Given the description of an element on the screen output the (x, y) to click on. 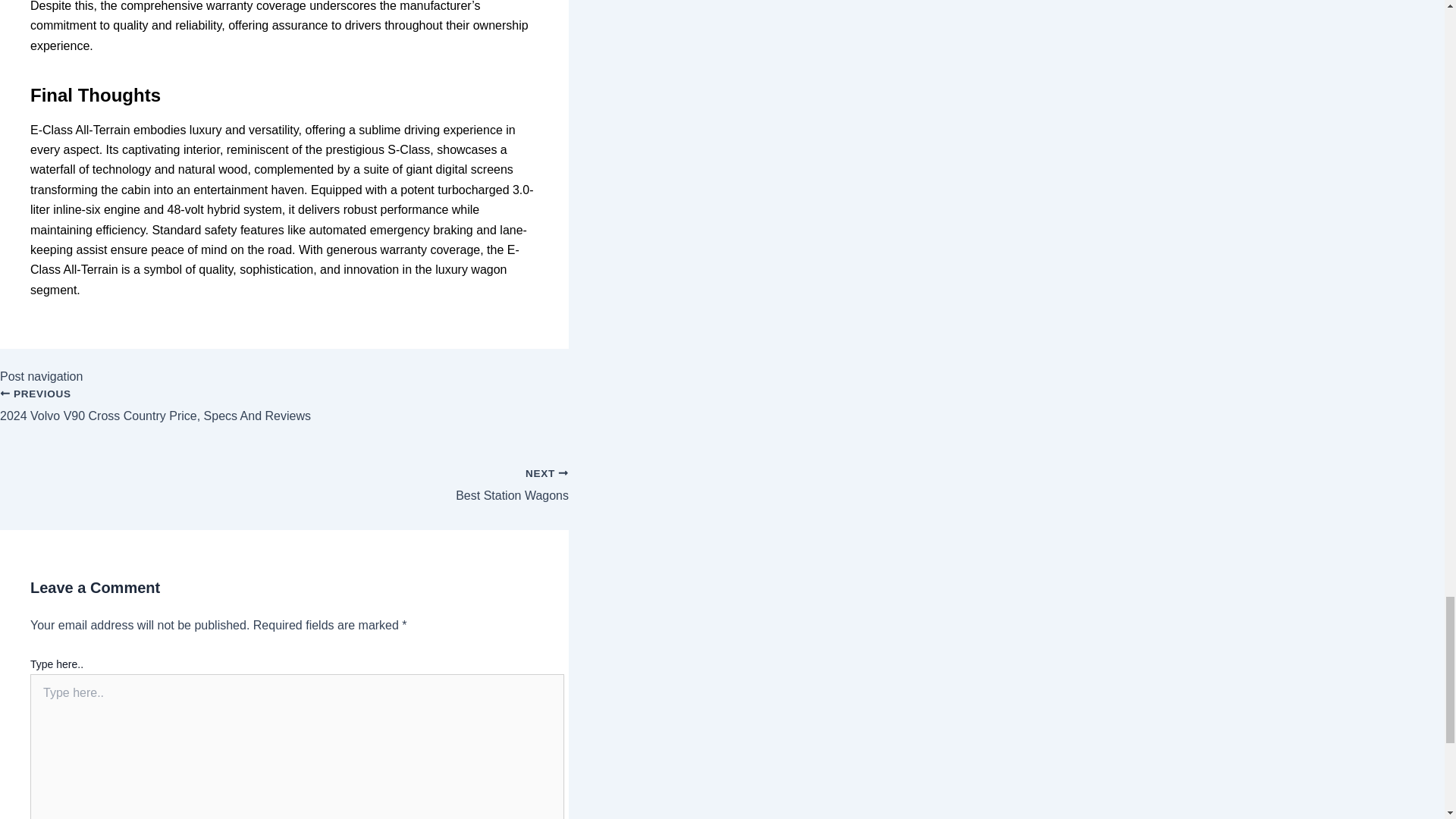
Best Station Wagons (284, 477)
2024 Volvo V90 Cross Country Price, Specs And Reviews (284, 414)
